Given the description of an element on the screen output the (x, y) to click on. 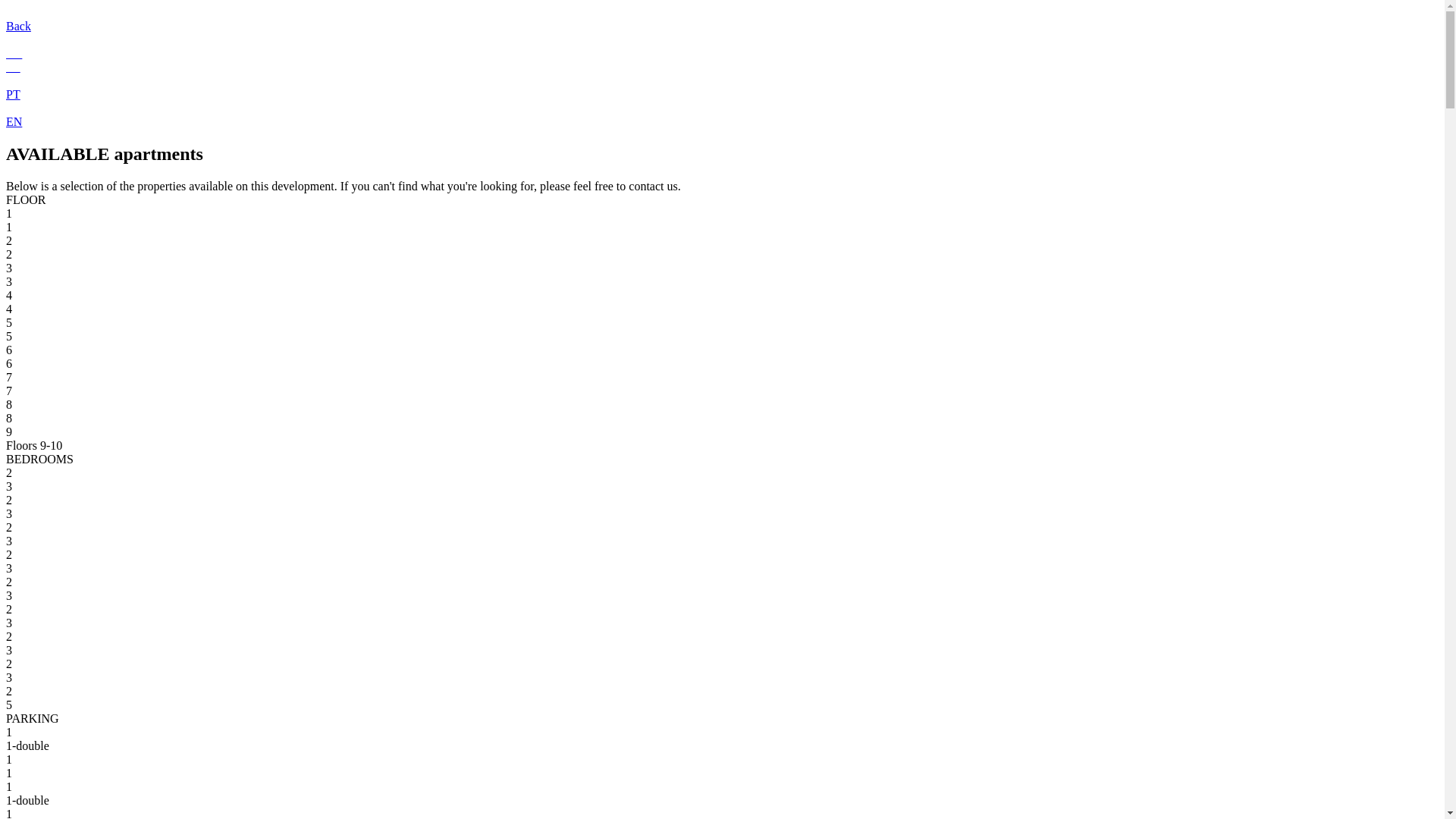
Back Element type: text (722, 39)
EN Element type: text (722, 128)
PT Element type: text (722, 107)
PT Element type: text (722, 67)
EN Element type: text (722, 53)
